Given the description of an element on the screen output the (x, y) to click on. 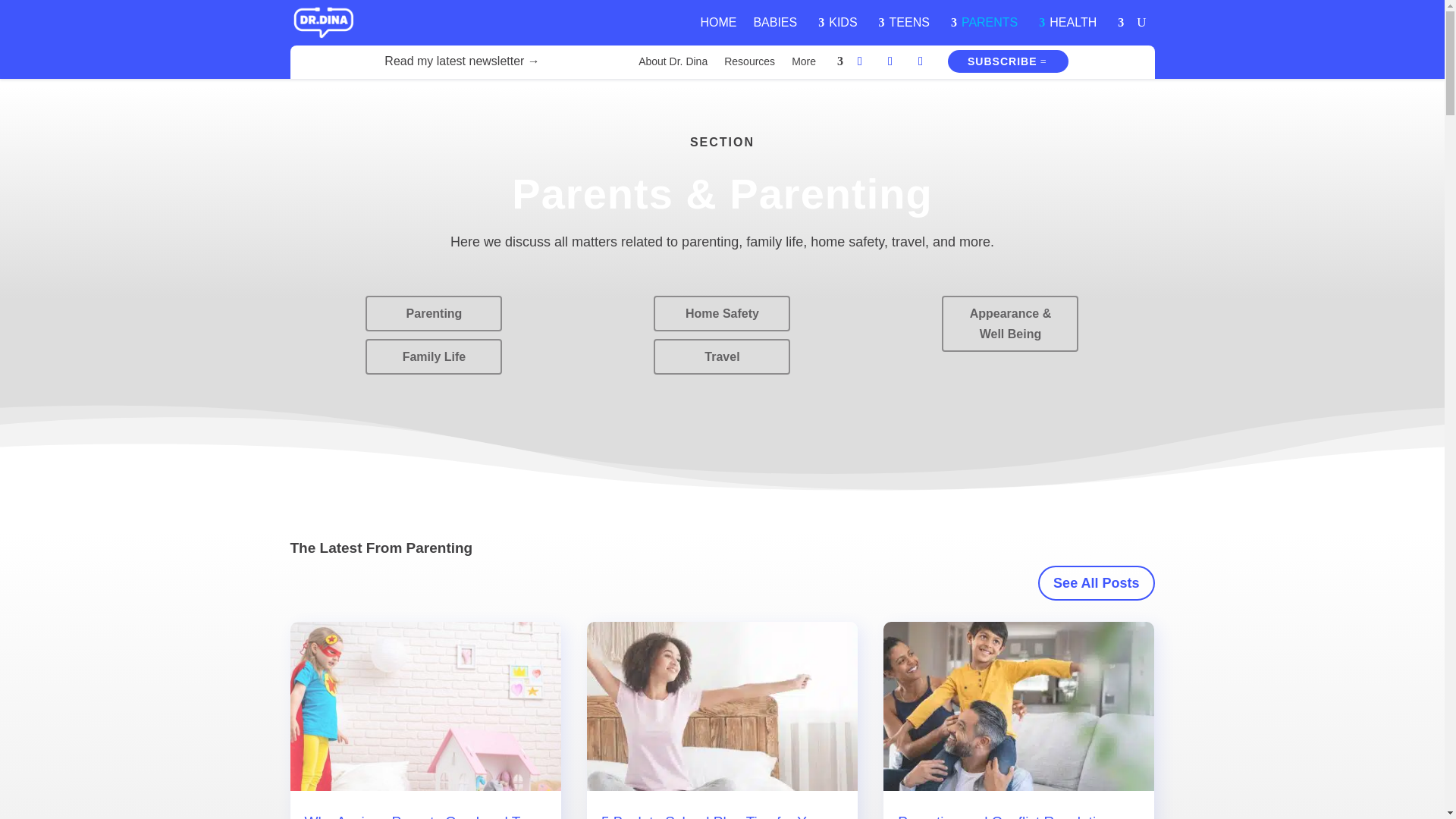
Follow on Instagram (920, 61)
Follow on X (889, 61)
HOME (718, 22)
PARENTS (996, 22)
BABIES (782, 22)
KIDS (850, 22)
Follow on Facebook (859, 61)
HEALTH (1080, 22)
TEENS (916, 22)
